Given the description of an element on the screen output the (x, y) to click on. 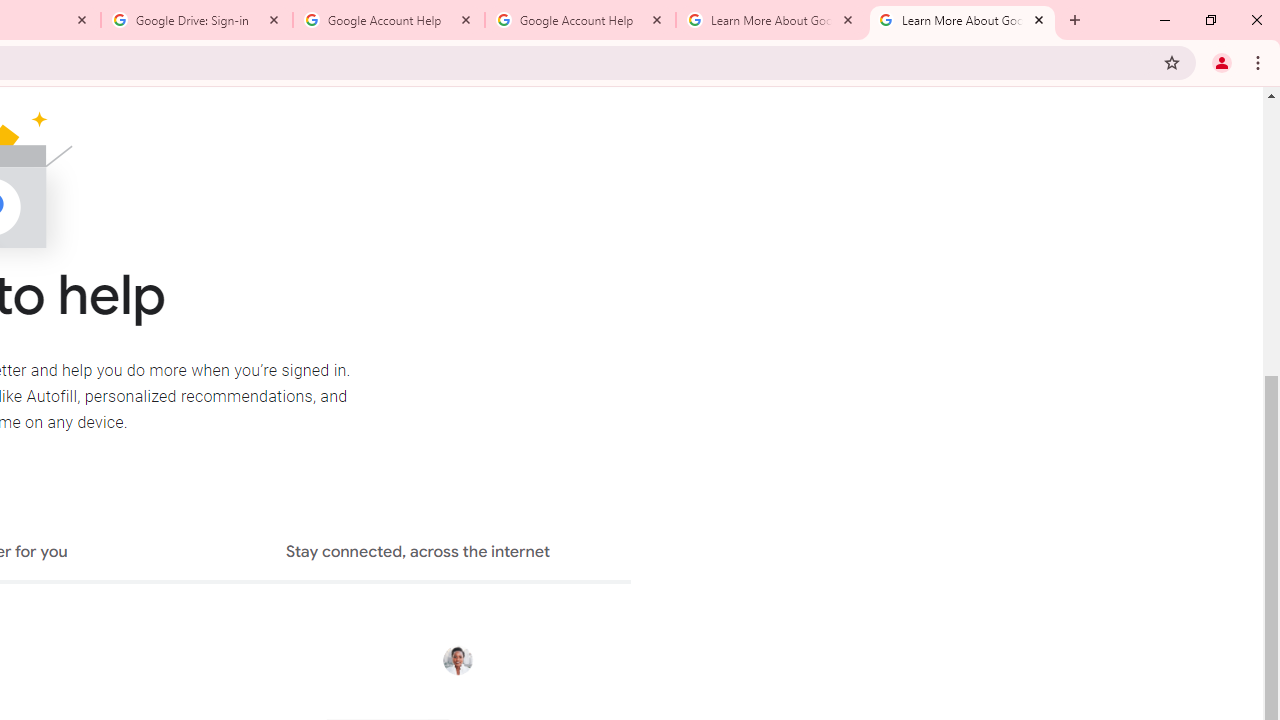
Google Account Help (389, 20)
Google Drive: Sign-in (197, 20)
Stay connected, across the internet (417, 553)
Google Account Help (580, 20)
